Given the description of an element on the screen output the (x, y) to click on. 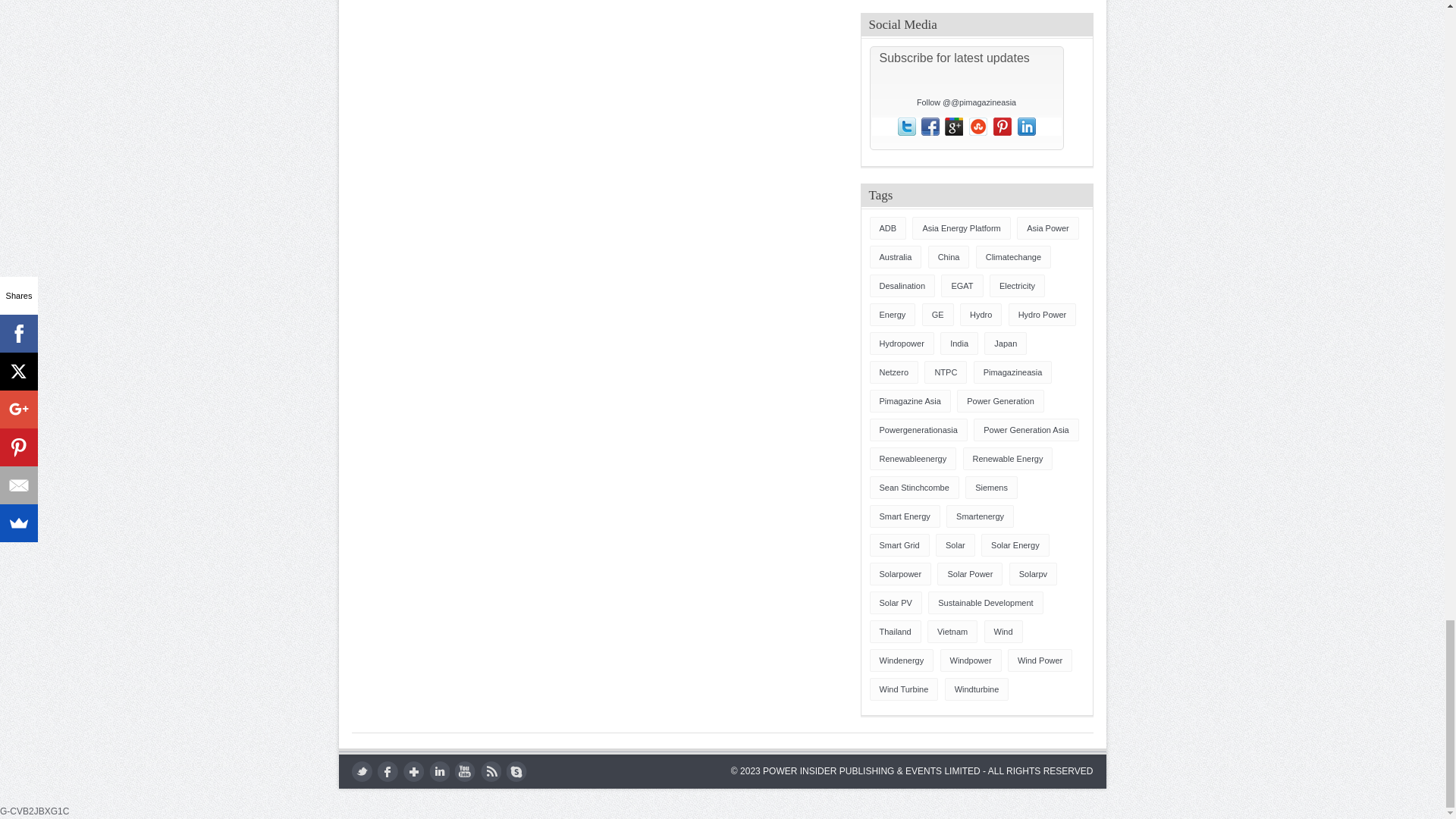
Recommend Pimagazine Asia on StumbleUpon (978, 126)
Visit the Pimagazine Asia Facebook Page (929, 126)
Submit post to LinkedIn (1026, 126)
Follow me on Pinterest (1001, 126)
